Given the description of an element on the screen output the (x, y) to click on. 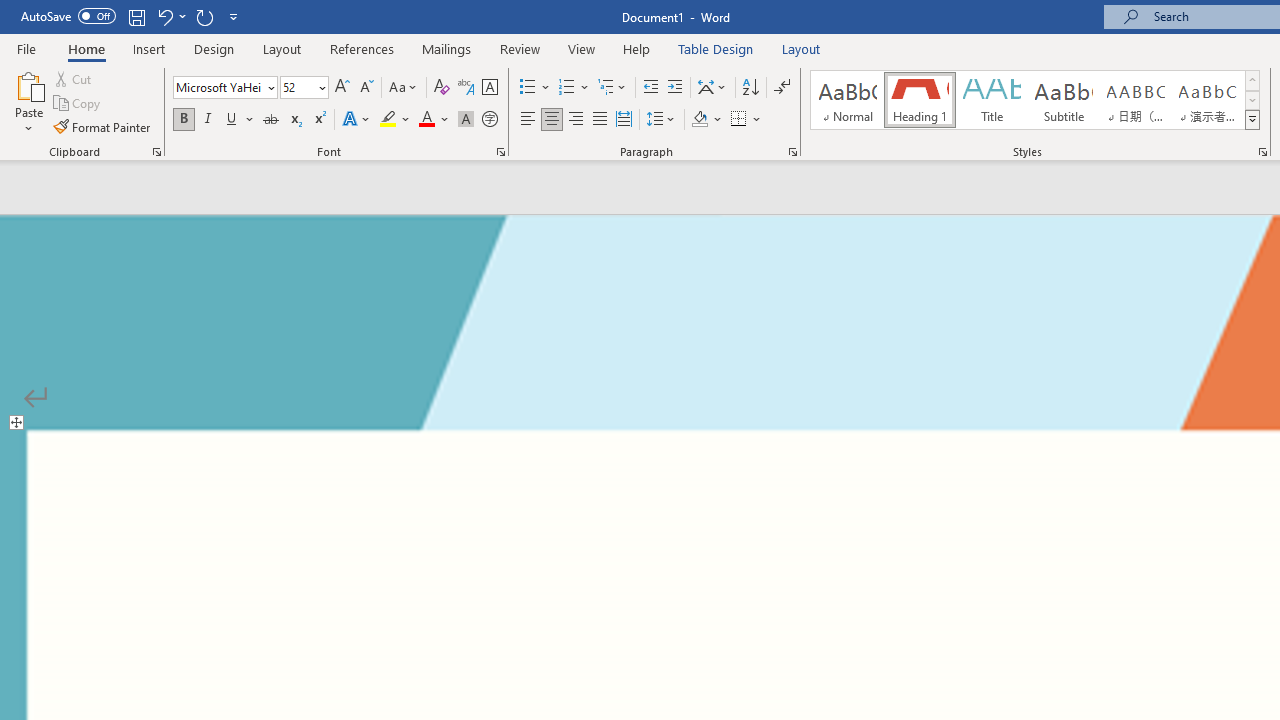
Cut (73, 78)
Copy (78, 103)
Distributed (623, 119)
Align Right (575, 119)
Heading 1 (920, 100)
Phonetic Guide... (465, 87)
Styles (1252, 120)
